Given the description of an element on the screen output the (x, y) to click on. 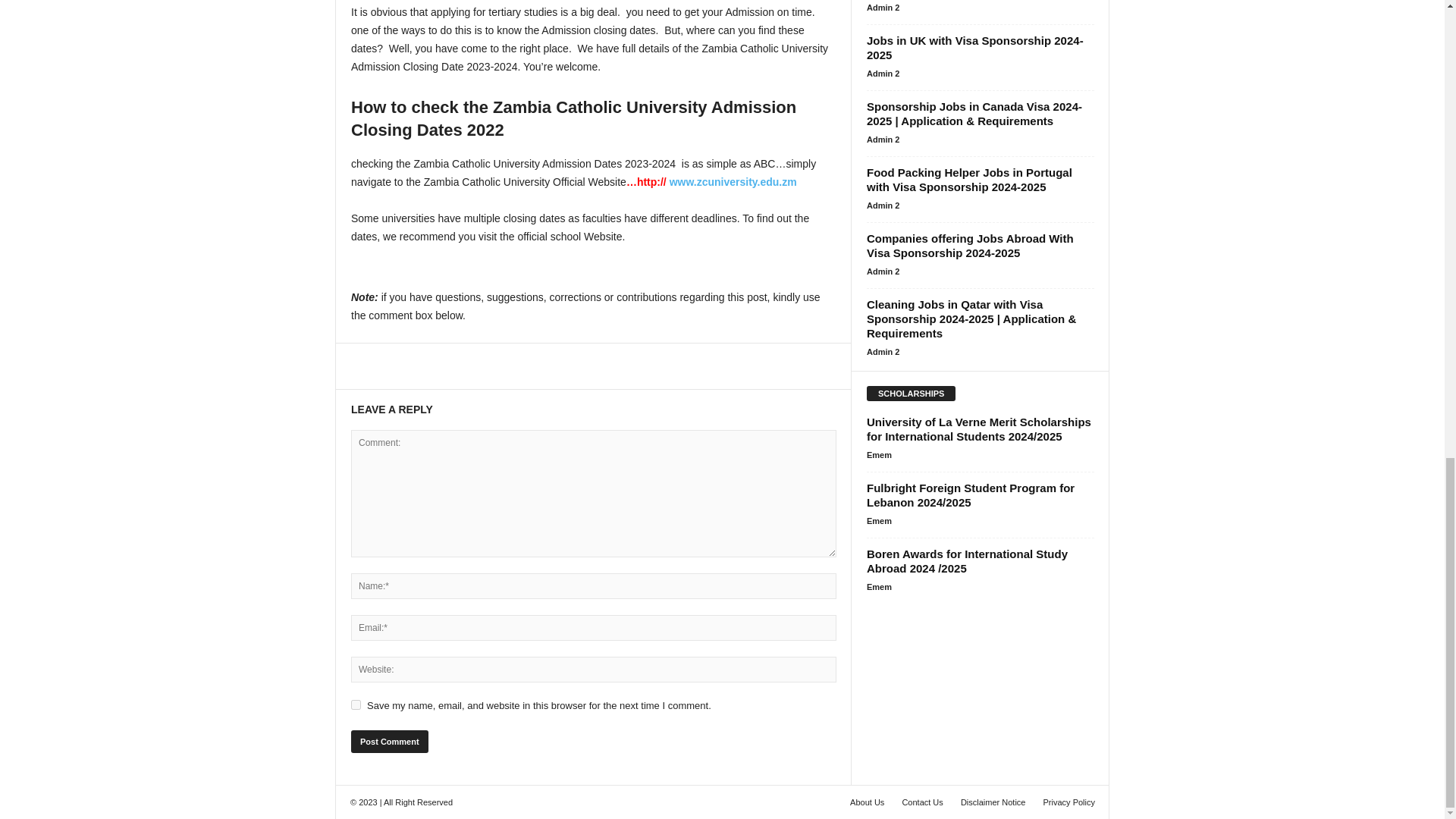
www.zcuniversity.edu.zm (732, 182)
yes (355, 705)
Post Comment (389, 741)
Post Comment (389, 741)
